Given the description of an element on the screen output the (x, y) to click on. 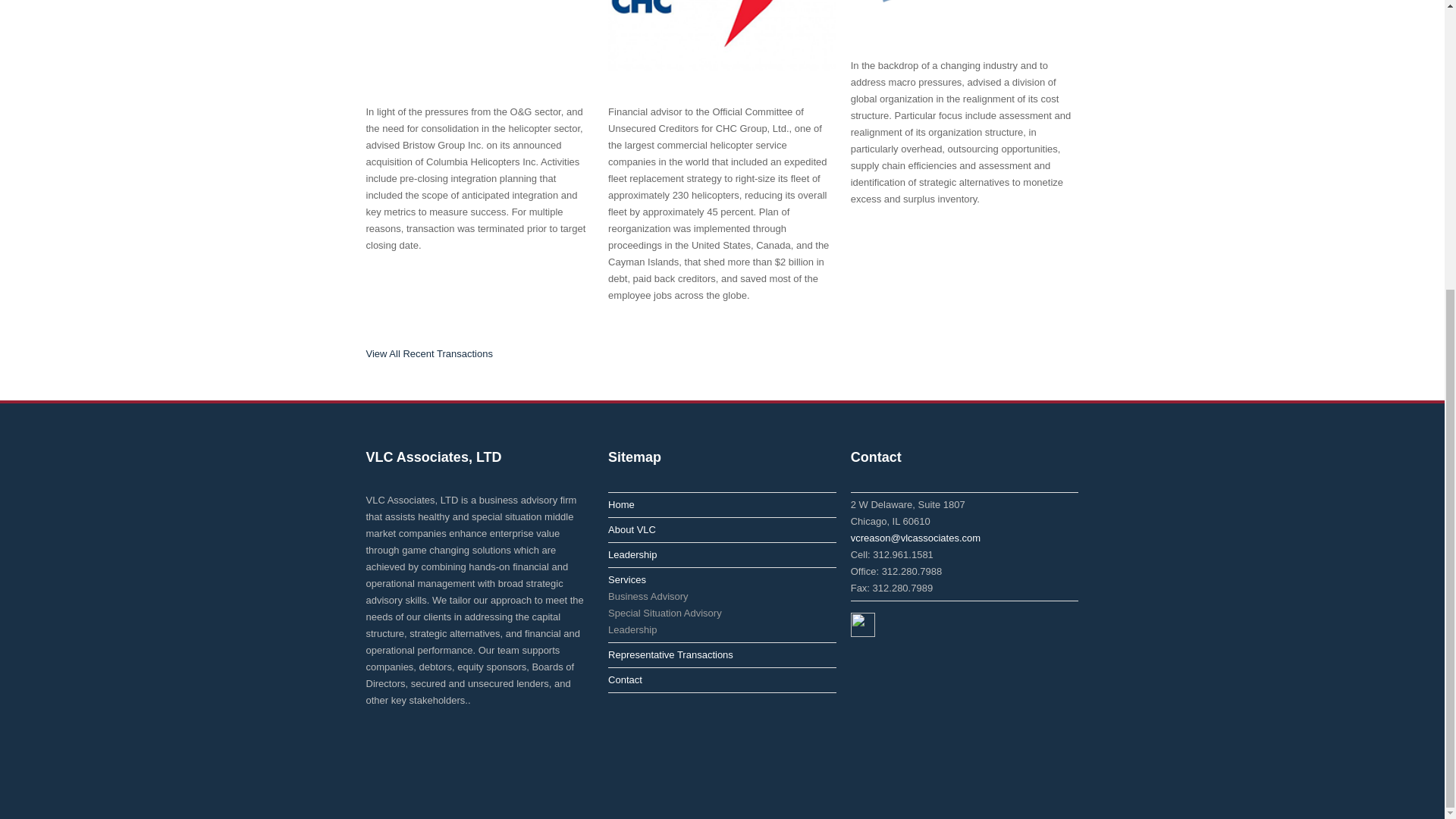
View All Recent Transactions (428, 353)
Representative Transactions (670, 654)
Leadership (632, 629)
Home (621, 504)
Contact (625, 679)
Leadership (632, 554)
Business Advisory (648, 595)
About VLC (632, 529)
Special Situation Advisory (665, 613)
